Given the description of an element on the screen output the (x, y) to click on. 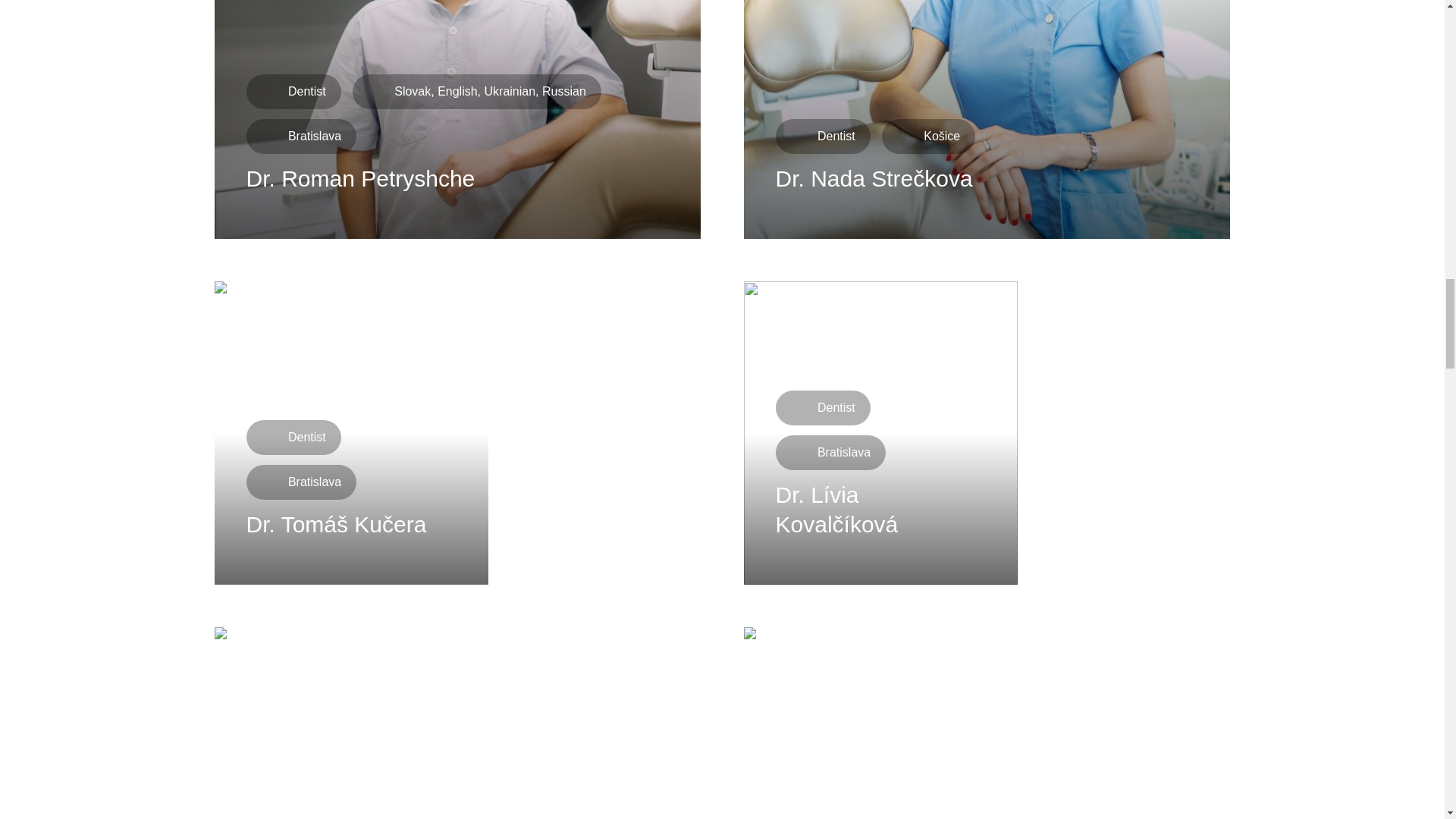
Slovak, English, Ukrainian, Russian  (301, 135)
Slovak, English, Ukrainian, Russian  (476, 91)
